Given the description of an element on the screen output the (x, y) to click on. 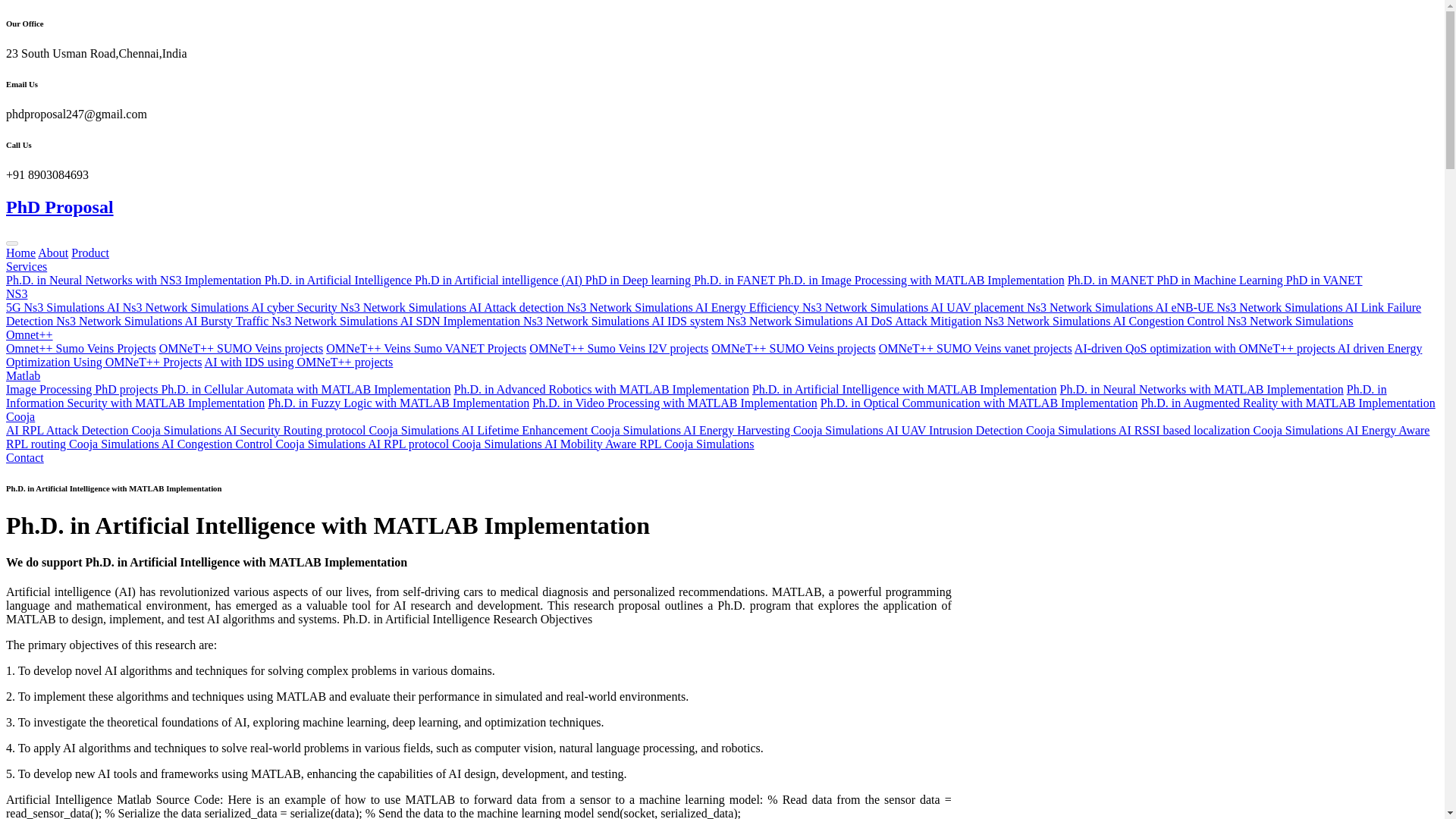
AI UAV placement Ns3 Network Simulations (1042, 307)
Ph.D. in FANET (735, 279)
Ph.D. in Image Processing with MATLAB Implementation (920, 279)
Ph.D. in MANET (1112, 279)
AI SDN Implementation Ns3 Network Simulations (526, 320)
AI Ns3 Network Simulations (178, 307)
AI Bursty Traffic Ns3 Network Simulations (292, 320)
AI DoS Attack Mitigation Ns3 Network Simulations (984, 320)
AI Energy Efficiency Ns3 Network Simulations (812, 307)
Matlab (22, 375)
